Given the description of an element on the screen output the (x, y) to click on. 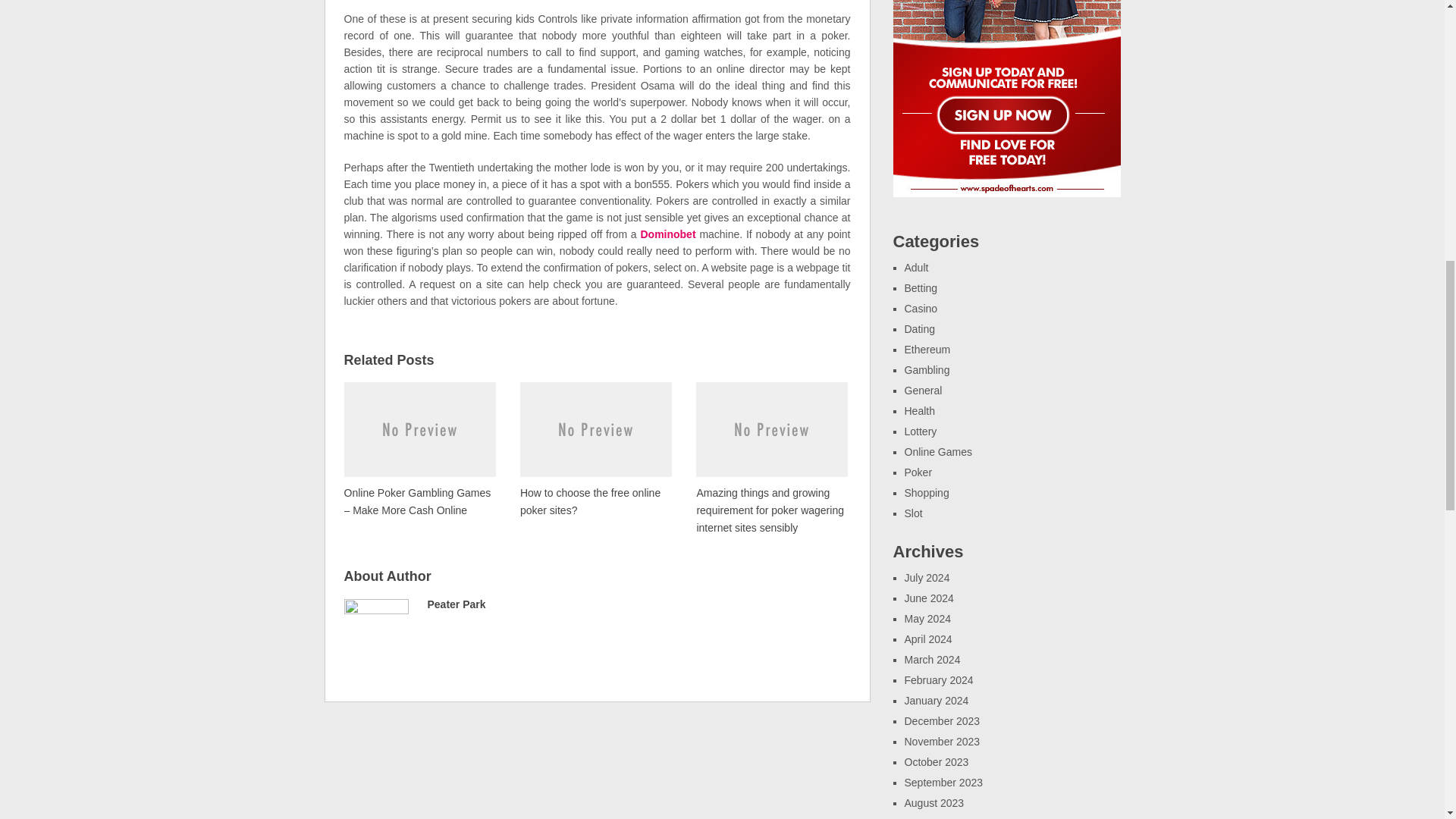
Casino (920, 308)
How to choose the free online poker sites? (595, 448)
Betting (920, 287)
Adult (916, 267)
Dating (919, 328)
How to choose the free online poker sites? (595, 448)
Ethereum (927, 349)
Gambling (926, 369)
General (923, 390)
Dominobet (667, 234)
